Given the description of an element on the screen output the (x, y) to click on. 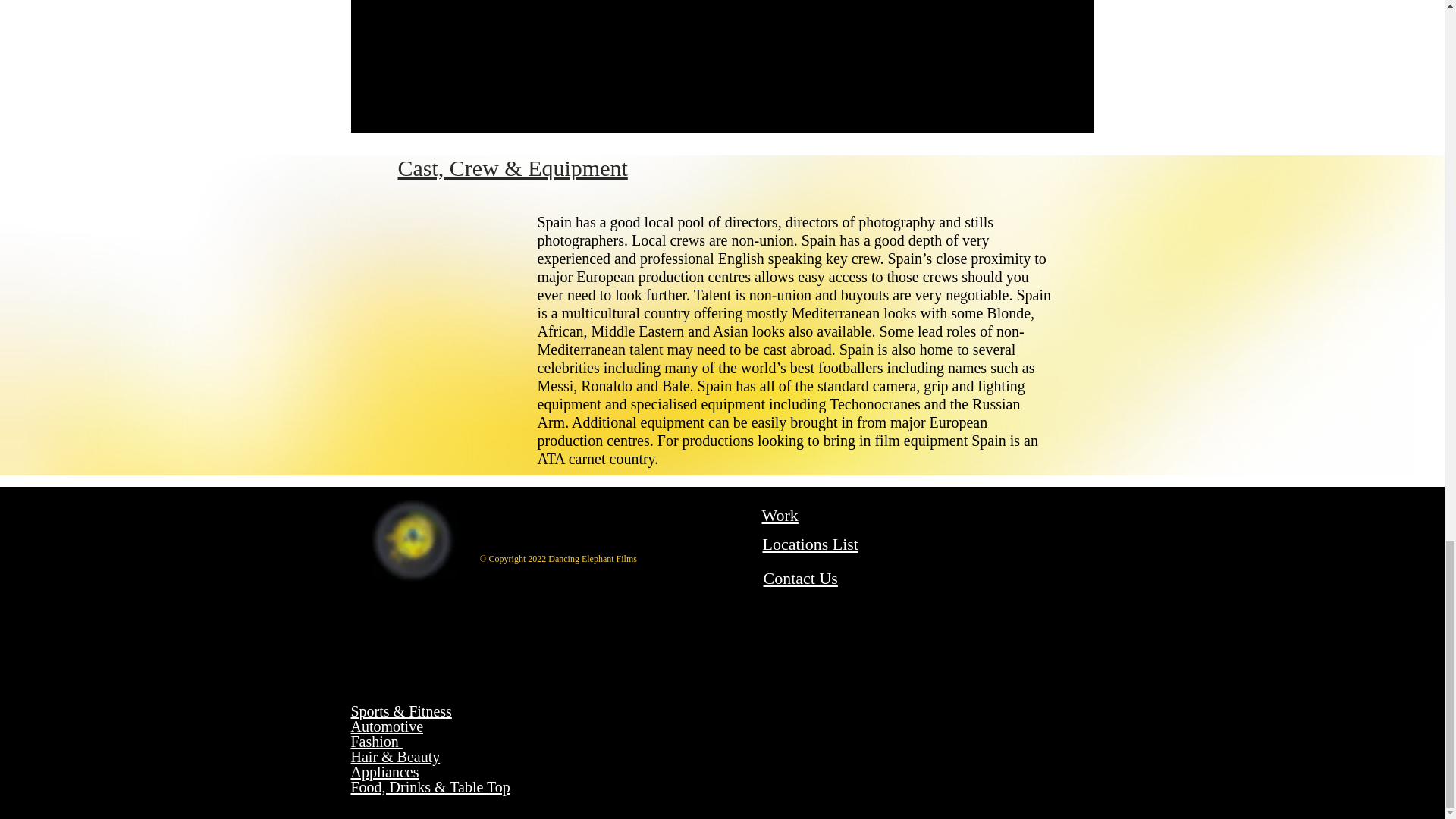
Appliances (384, 771)
Automotive (386, 726)
Contact Us (799, 578)
Locations List (810, 543)
Work (779, 515)
